Given the description of an element on the screen output the (x, y) to click on. 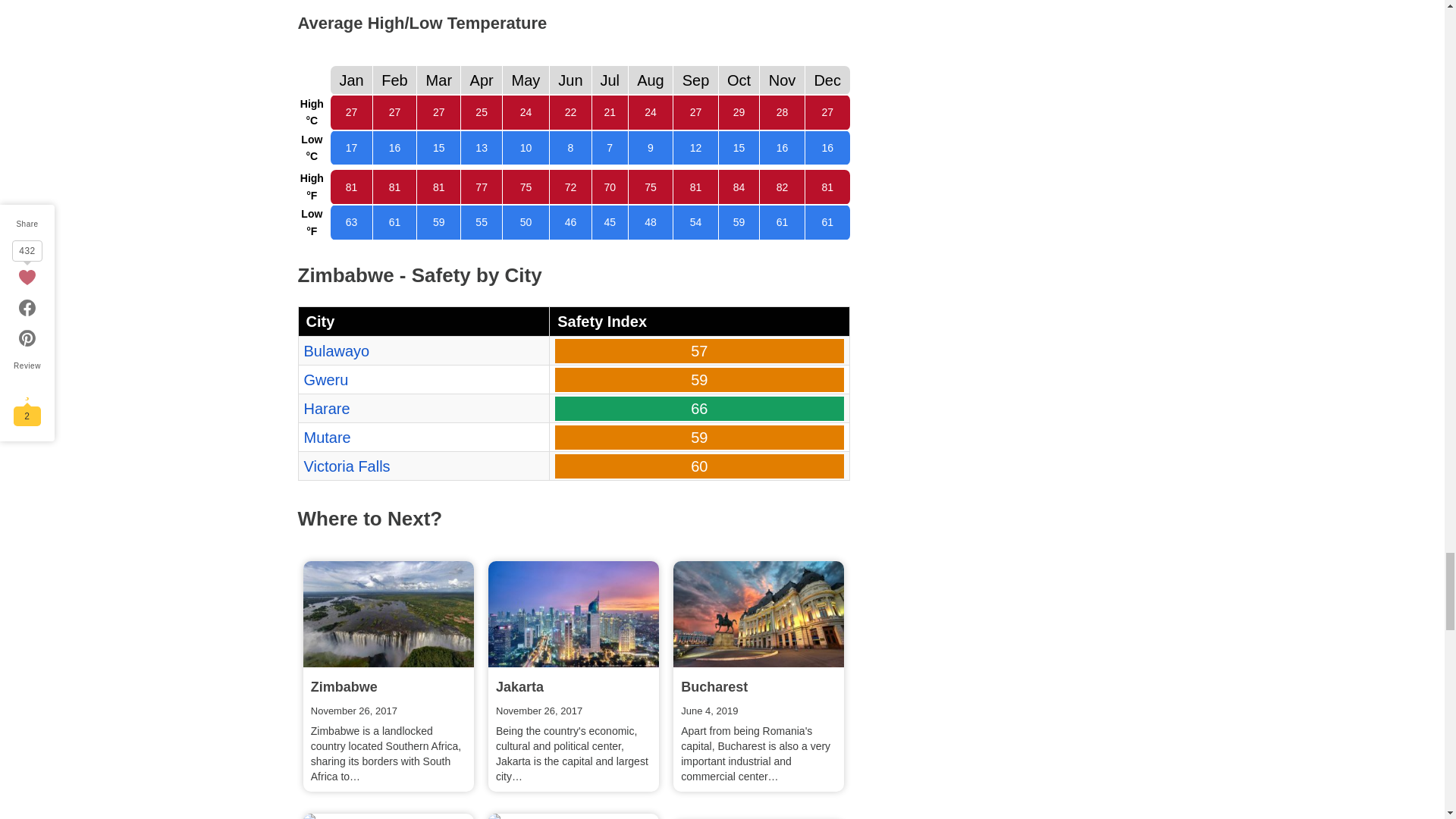
Bulawayo (335, 351)
Zimbabwe (388, 614)
Gweru (324, 379)
Jakarta (573, 614)
